Given the description of an element on the screen output the (x, y) to click on. 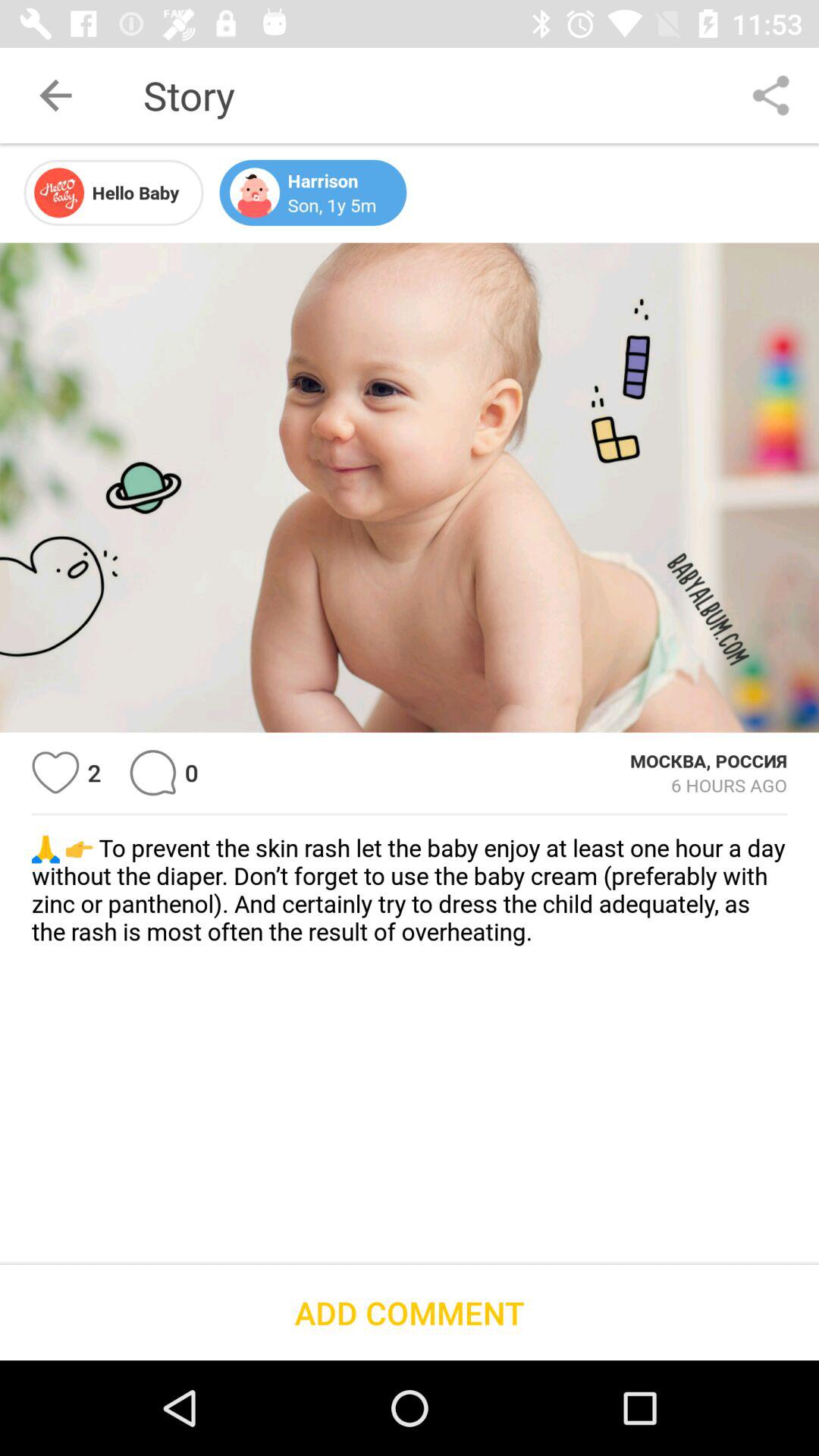
add your baby photo (409, 487)
